Given the description of an element on the screen output the (x, y) to click on. 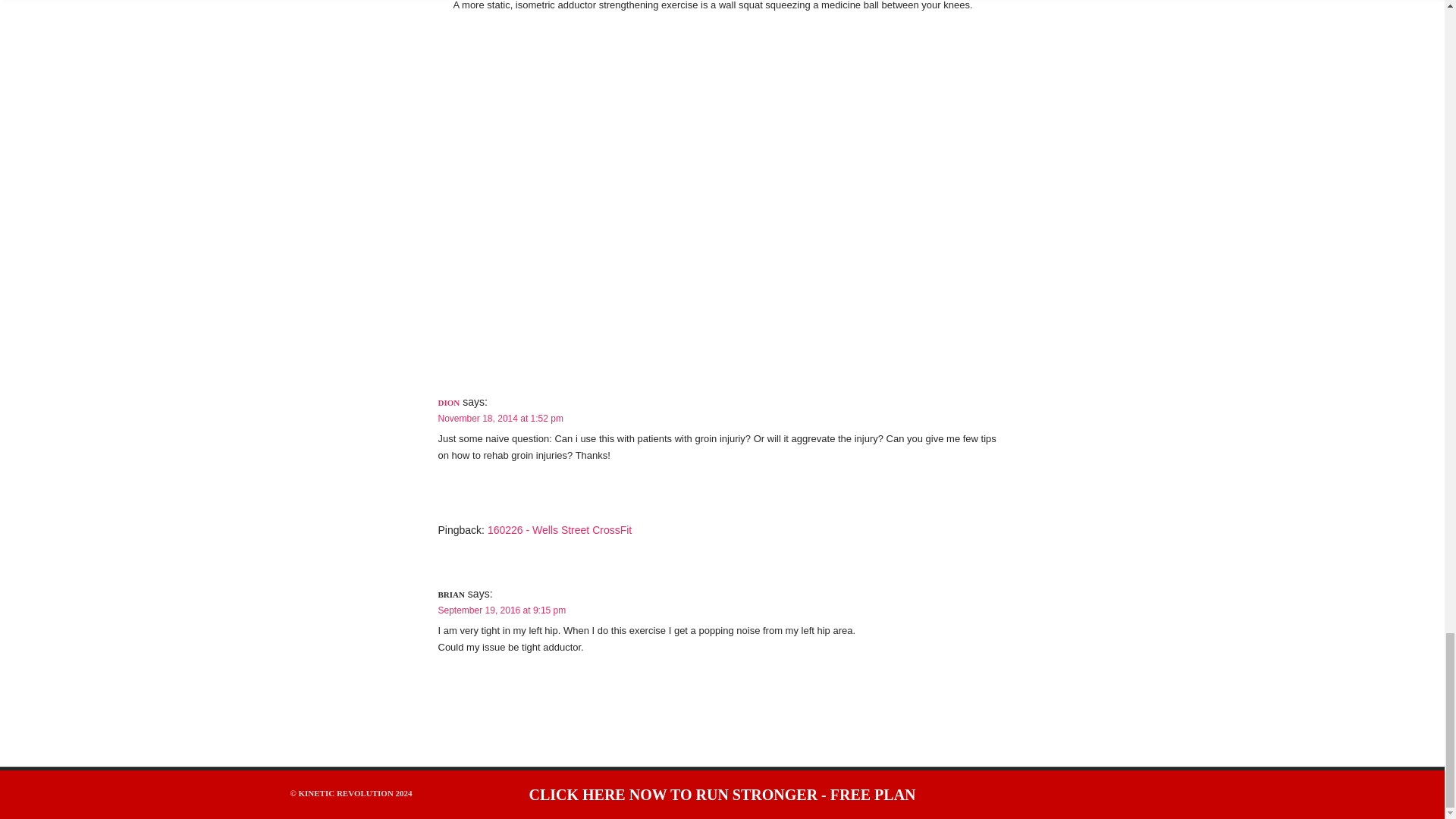
September 19, 2016 at 9:15 pm (502, 610)
160226 - Wells Street CrossFit (559, 530)
November 18, 2014 at 1:52 pm (500, 418)
DION (449, 402)
